Given the description of an element on the screen output the (x, y) to click on. 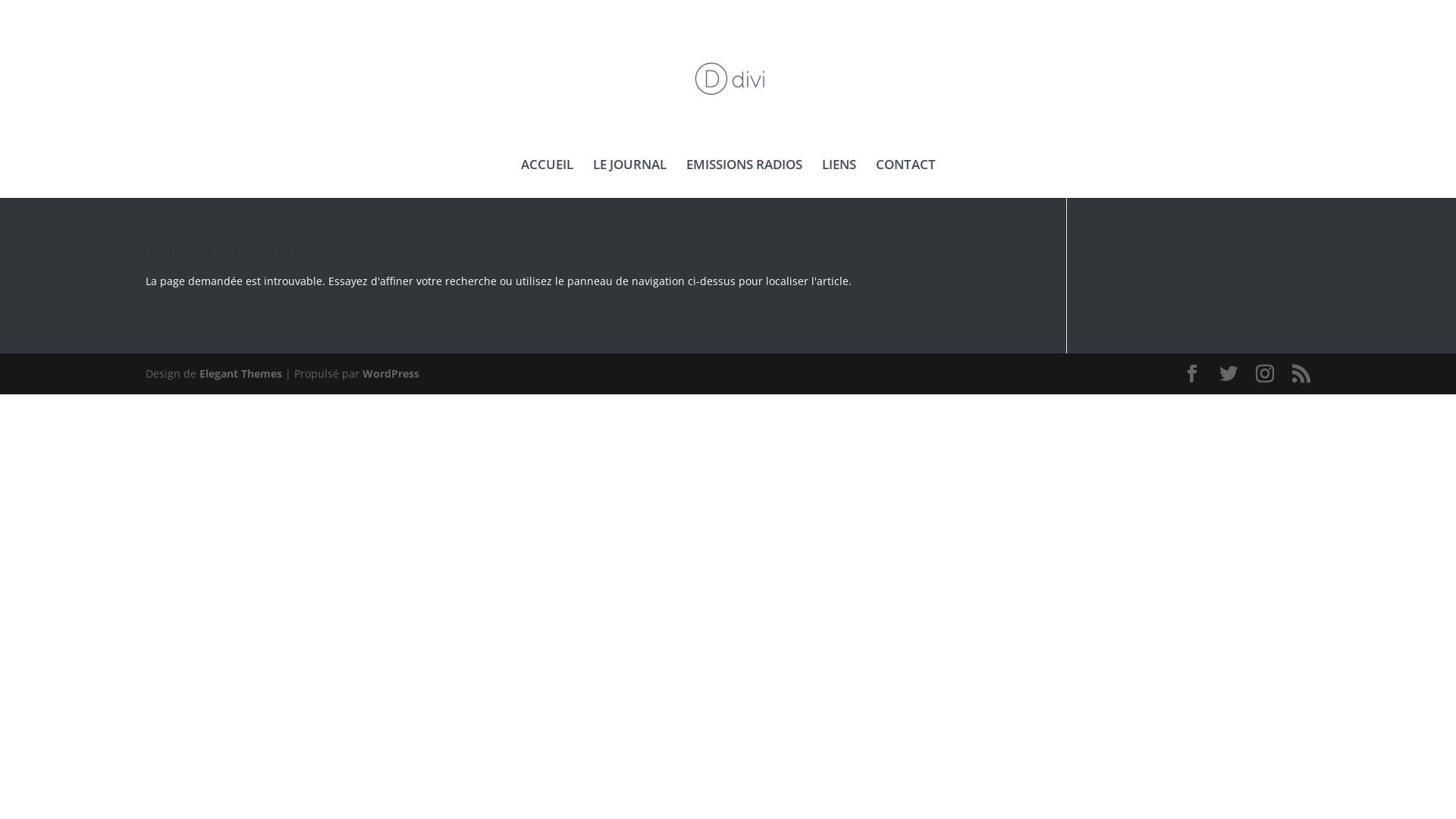
WordPress Element type: text (390, 373)
Elegant Themes Element type: text (240, 373)
LE JOURNAL Element type: text (629, 178)
LIENS Element type: text (839, 178)
EMISSIONS RADIOS Element type: text (743, 178)
CONTACT Element type: text (905, 178)
ACCUEIL Element type: text (546, 178)
